Given the description of an element on the screen output the (x, y) to click on. 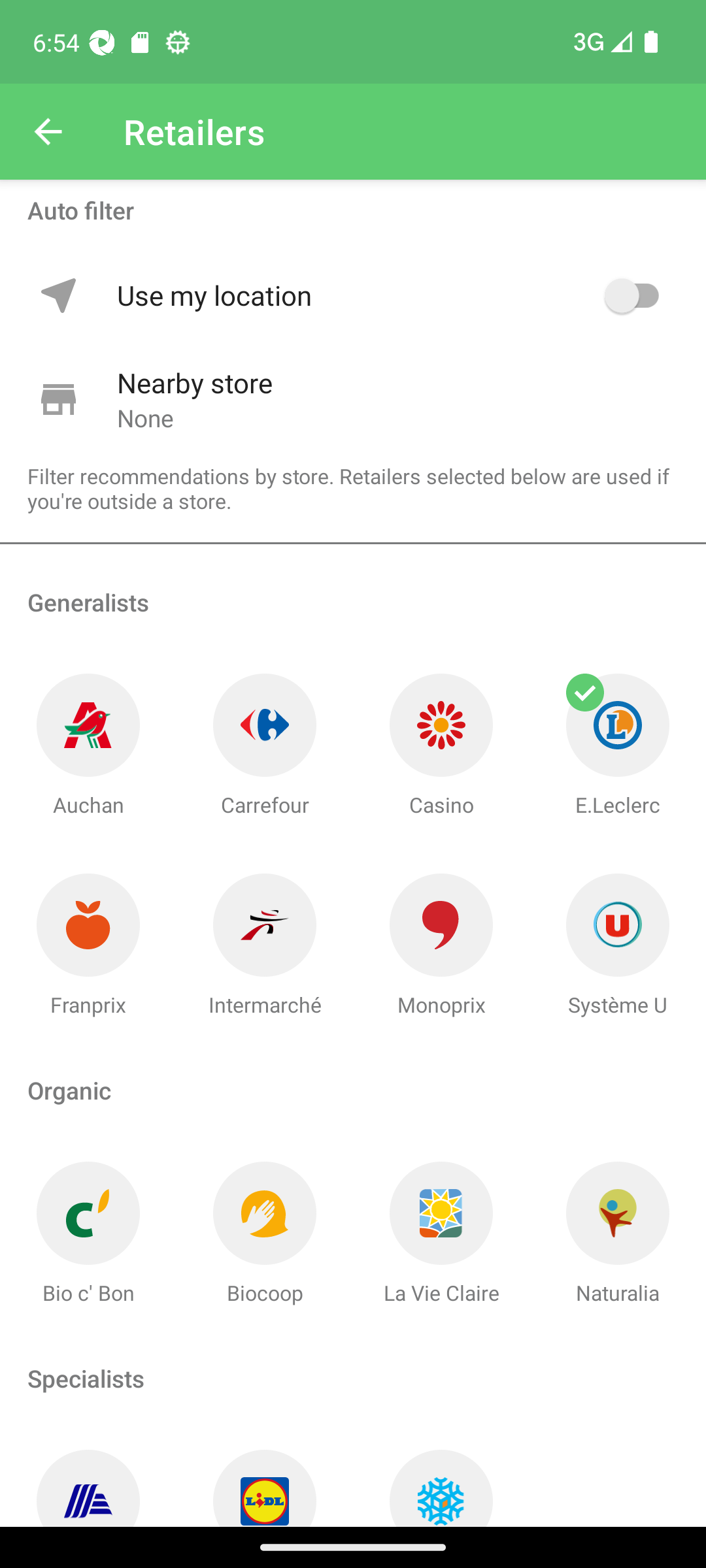
Navigate up (48, 131)
Use my location OFF (390, 295)
Auchan (88, 746)
Carrefour (264, 746)
Casino (441, 746)
E.Leclerc (617, 746)
Franprix (88, 945)
Intermarché (264, 945)
Monoprix (441, 945)
Système U (617, 945)
Bio c' Bon (88, 1233)
Biocoop (264, 1233)
La Vie Claire (441, 1233)
Naturalia (617, 1233)
